Given the description of an element on the screen output the (x, y) to click on. 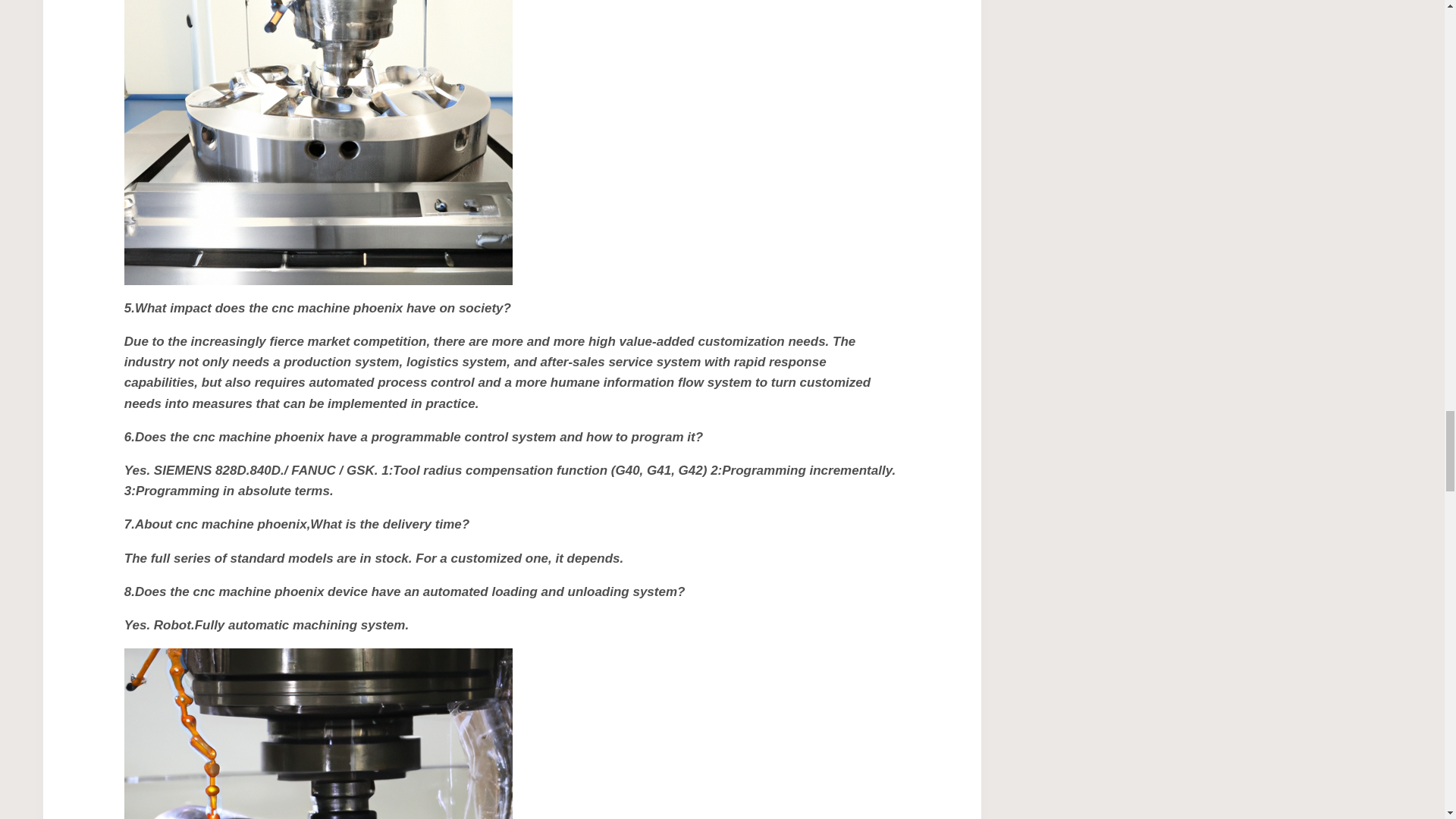
How fast does the cnc machine phoenix work? (317, 142)
